Given the description of an element on the screen output the (x, y) to click on. 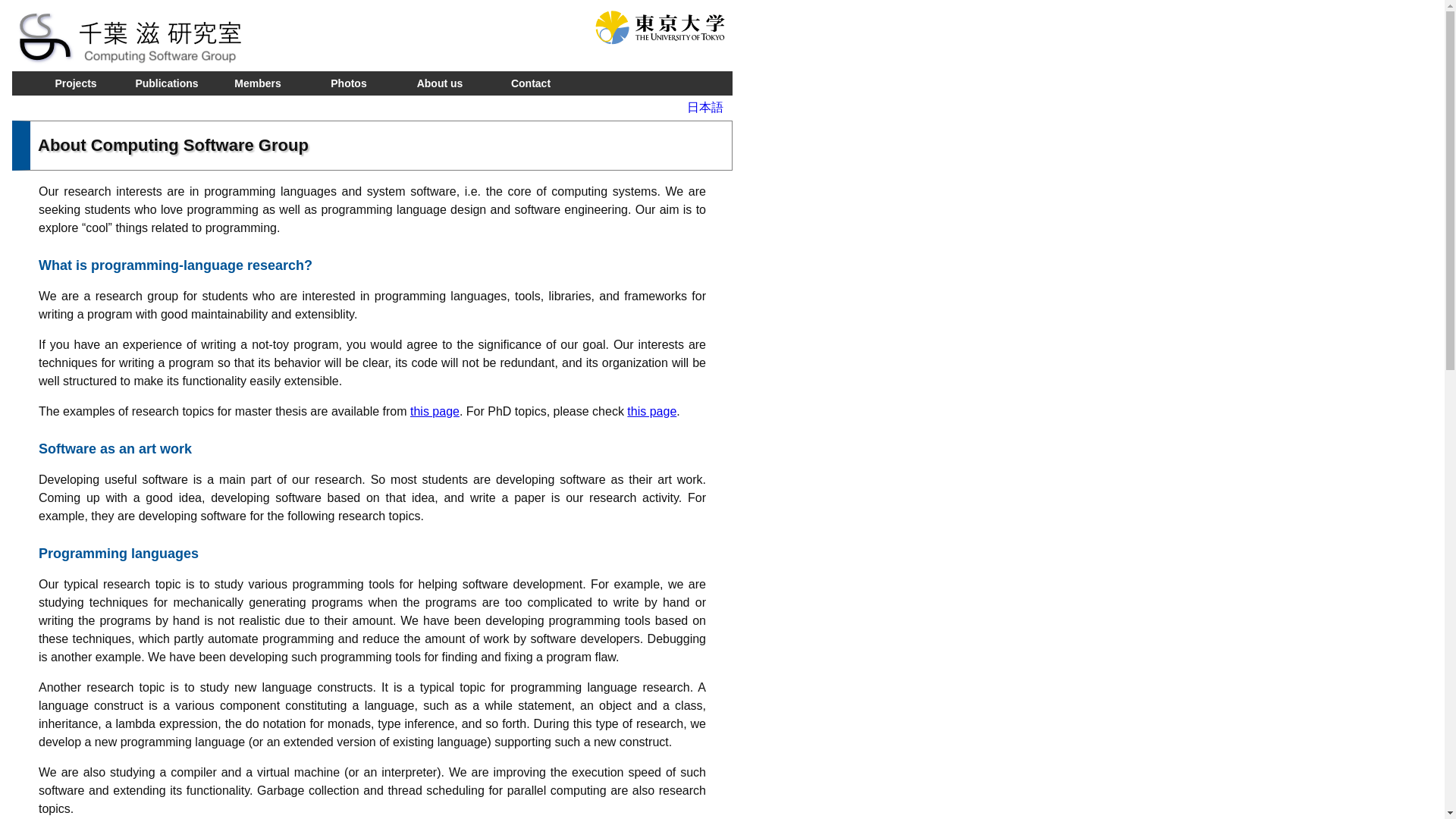
Members (257, 83)
Photos (348, 83)
Publications (166, 83)
Programming Language Research (371, 38)
Projects (75, 83)
Contact (530, 83)
this page (435, 410)
this page (652, 410)
About us (439, 83)
